Given the description of an element on the screen output the (x, y) to click on. 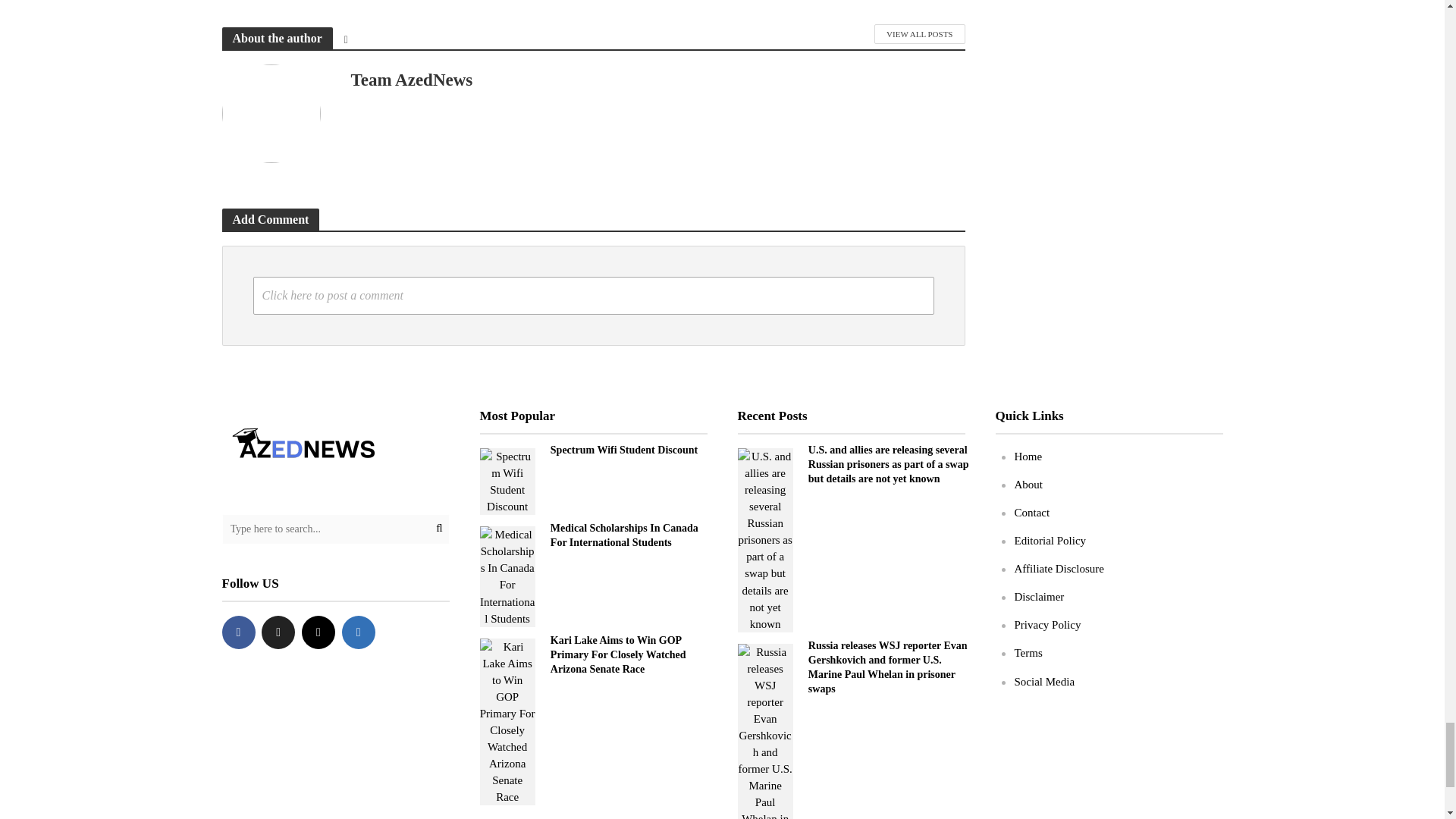
Instagram (317, 632)
Facebook (237, 632)
Linkedin (358, 632)
